Given the description of an element on the screen output the (x, y) to click on. 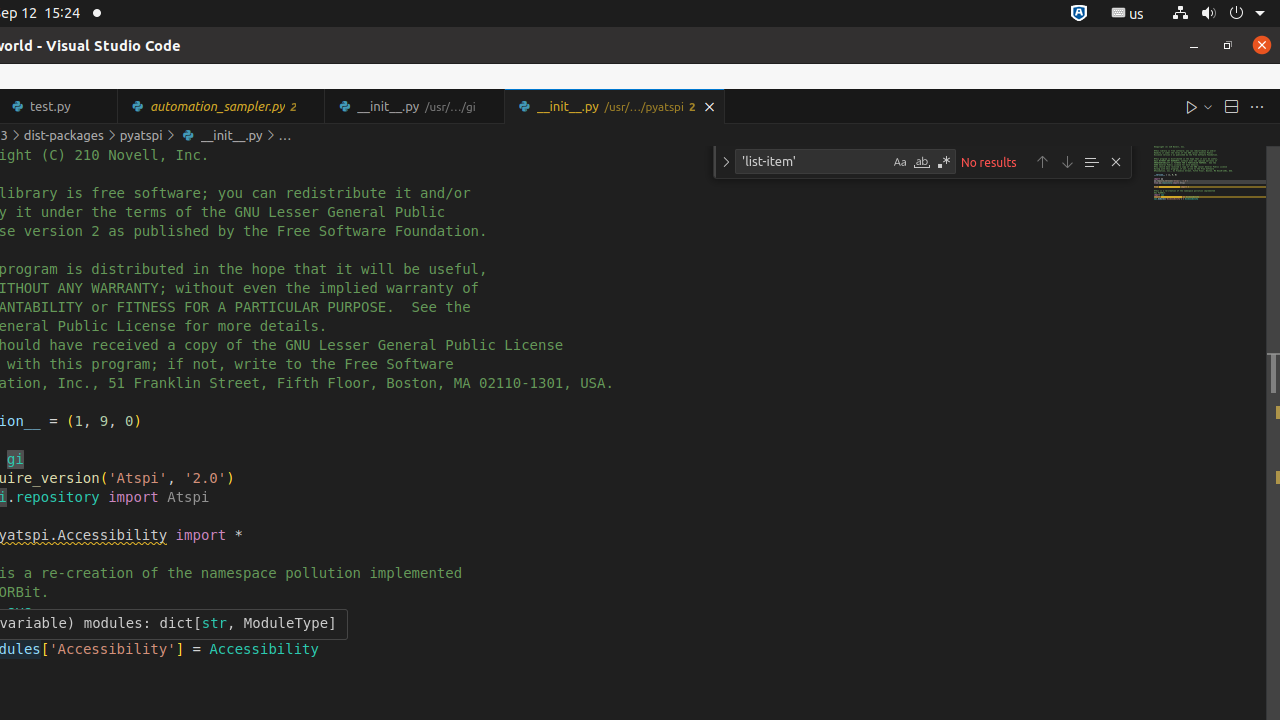
Previous Match (Shift+Enter) Element type: push-button (1042, 161)
More Actions... Element type: push-button (1257, 106)
Run or Debug... Element type: push-button (1208, 106)
